Given the description of an element on the screen output the (x, y) to click on. 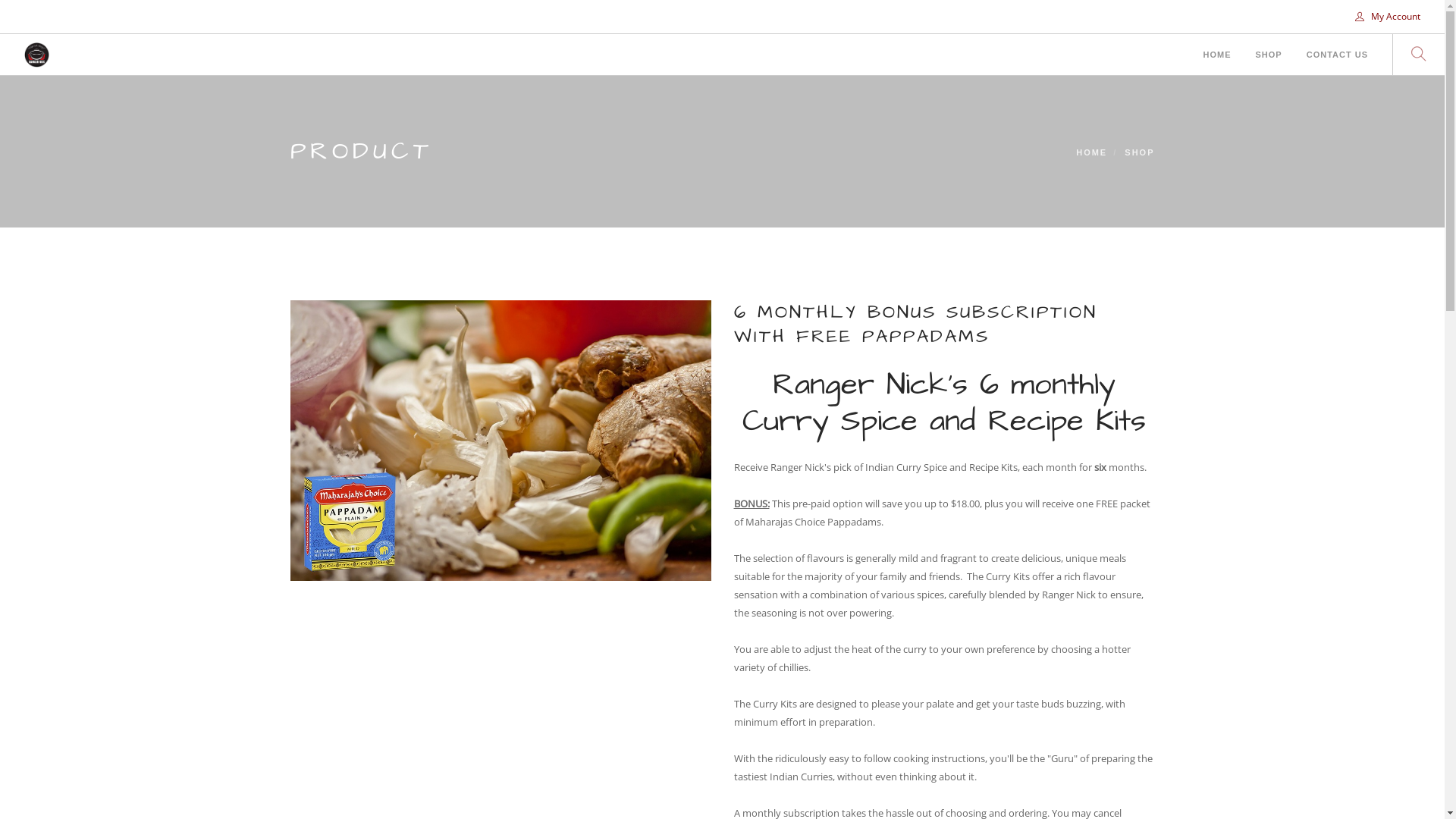
SHOP Element type: text (1139, 151)
SHOP Element type: text (1268, 55)
HOME Element type: text (1091, 151)
HOME Element type: text (1217, 55)
CONTACT US Element type: text (1337, 55)
  My Account Element type: text (1387, 15)
